Given the description of an element on the screen output the (x, y) to click on. 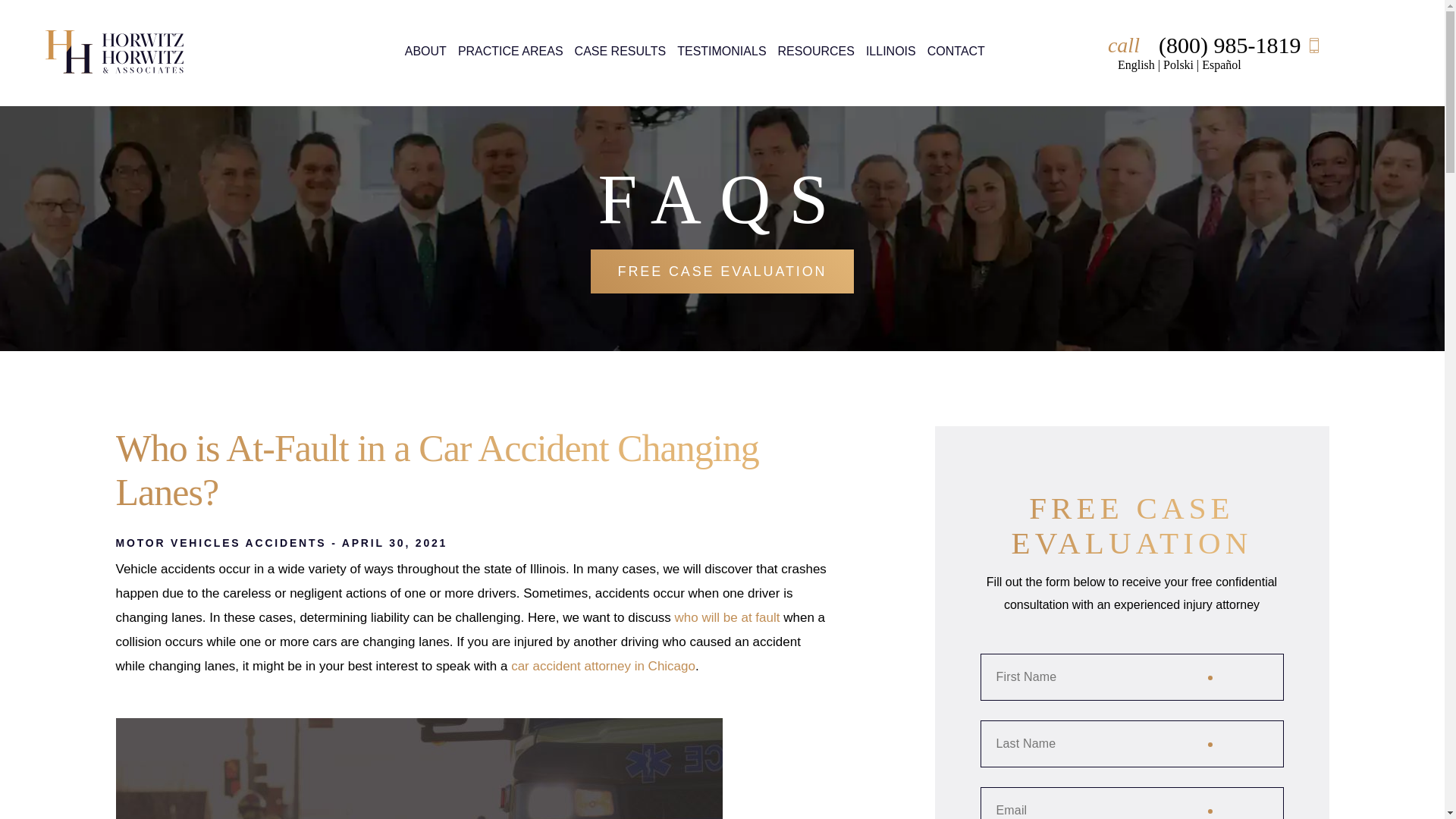
CASE RESULTS (620, 50)
RESOURCES (815, 55)
ILLINOIS (890, 55)
TESTIMONIALS (721, 50)
ABOUT (425, 55)
PRACTICE AREAS (510, 55)
FREE CASE EVALUATION (721, 271)
